Given the description of an element on the screen output the (x, y) to click on. 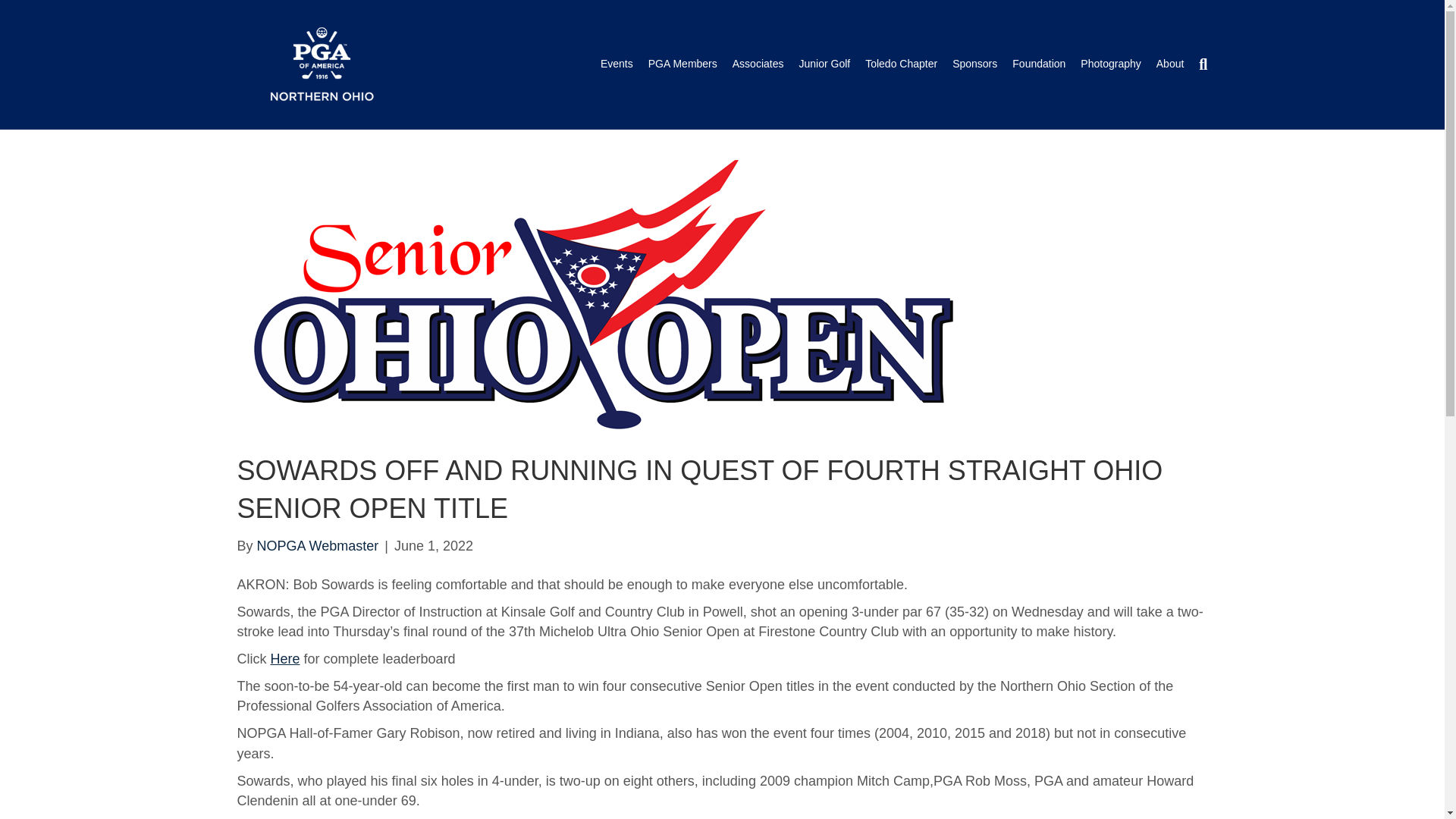
Associates (758, 64)
Photography (1110, 64)
Junior Golf (823, 64)
Sponsors (974, 64)
Toledo Chapter (900, 64)
Events (616, 64)
PGA Members (682, 64)
About (1170, 64)
NOPGA Webmaster (317, 545)
Here (284, 658)
Foundation (1038, 64)
